Given the description of an element on the screen output the (x, y) to click on. 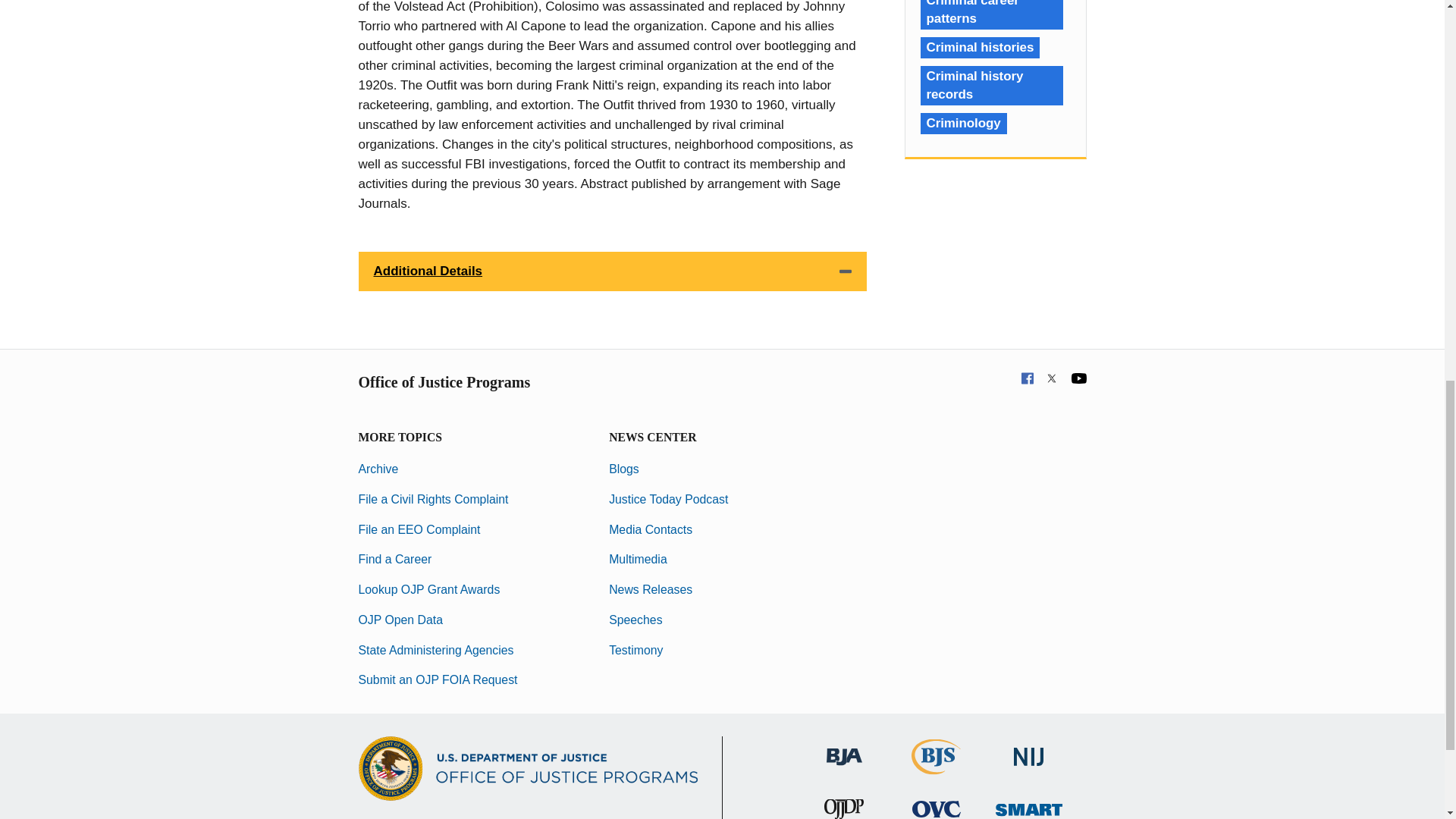
Criminal history records (991, 85)
Archive (377, 468)
Criminology (963, 123)
File an EEO Complaint (419, 529)
Find a Career (394, 558)
Additional Details (612, 271)
Criminal histories (980, 47)
Criminal career patterns (991, 14)
File a Civil Rights Complaint (433, 499)
